Given the description of an element on the screen output the (x, y) to click on. 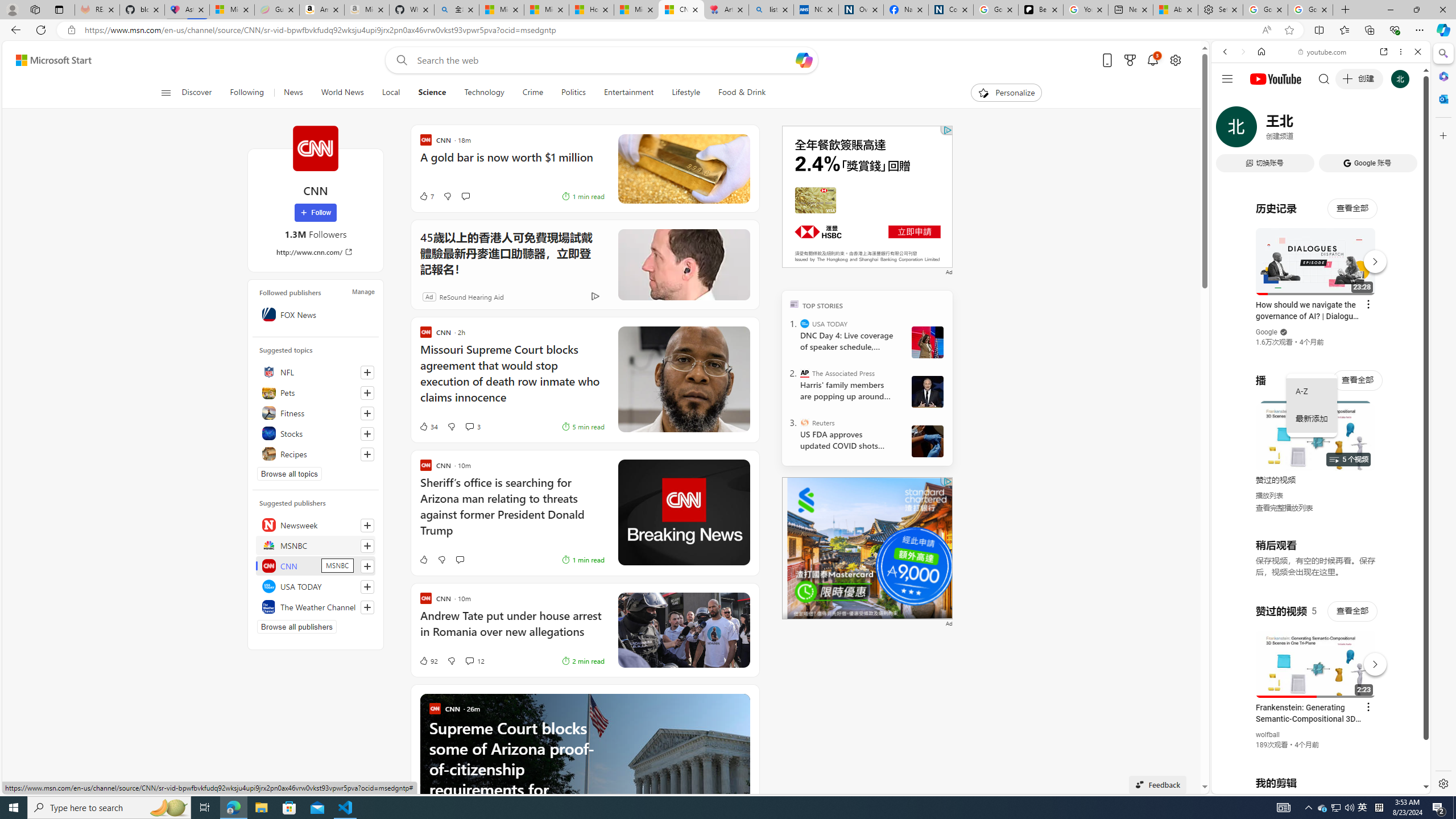
Search Filter, WEB (1230, 129)
The Weather Channel (315, 606)
View comments 12 Comment (469, 660)
92 Like (427, 661)
Trailer #2 [HD] (1320, 337)
CNN - MSN (681, 9)
Show More Music (1390, 310)
Class: qc-adchoices-icon (947, 481)
A gold bar is now worth $1 million (511, 163)
